Given the description of an element on the screen output the (x, y) to click on. 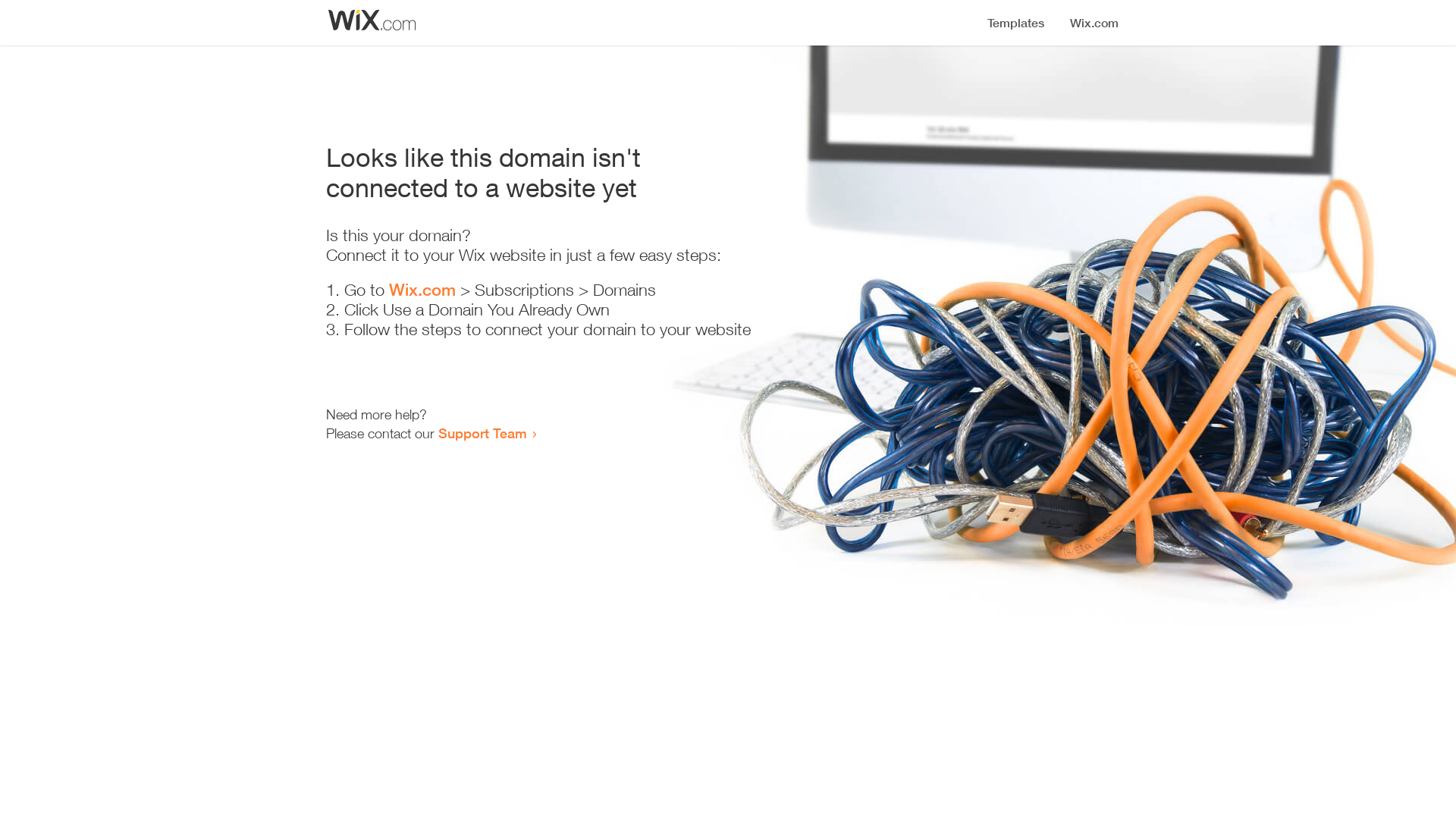
Wix.com Element type: text (422, 289)
Support Team Element type: text (482, 432)
